Given the description of an element on the screen output the (x, y) to click on. 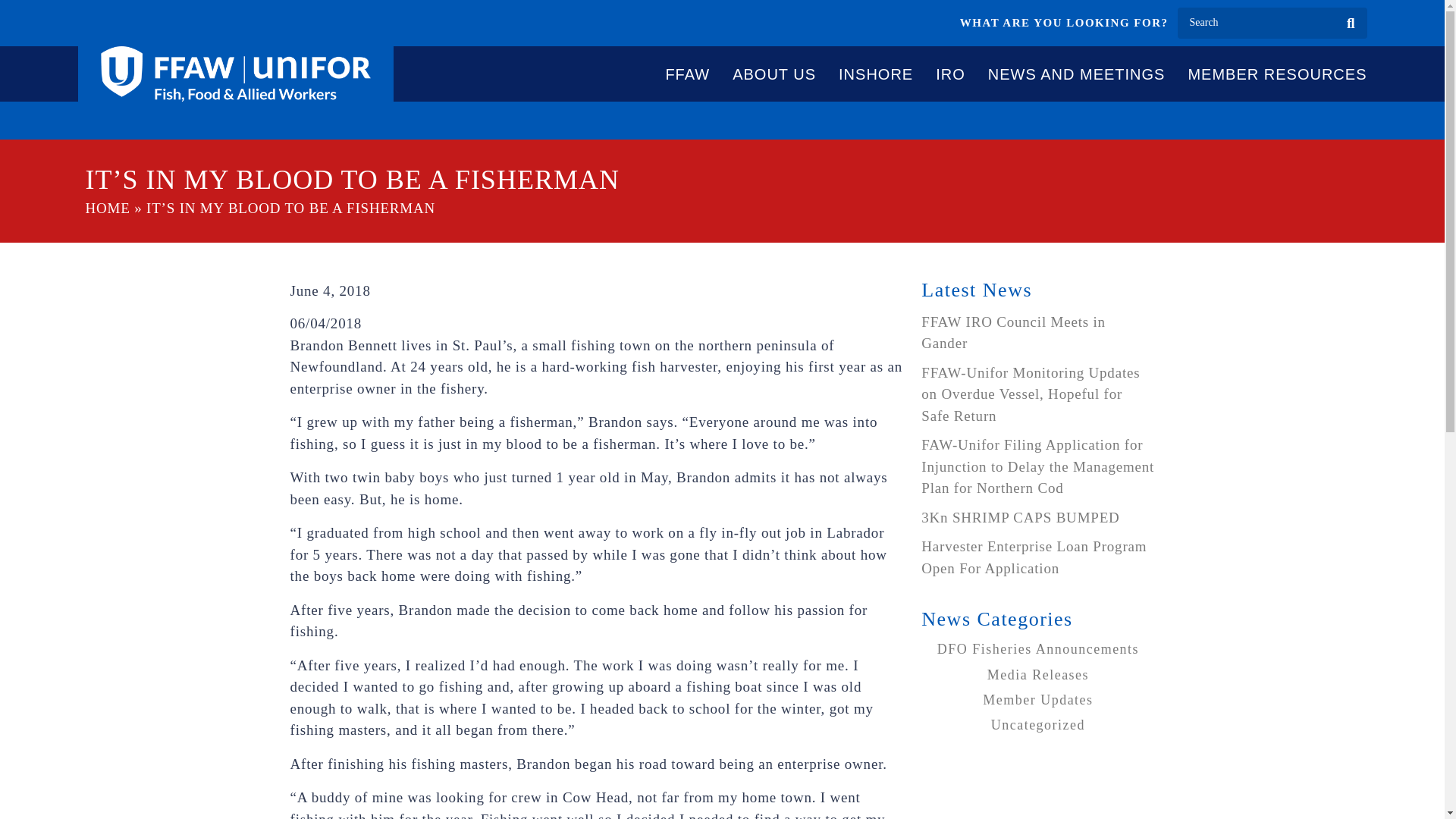
ABOUT US (773, 73)
IRO (950, 73)
FFAW (687, 73)
INSHORE (875, 73)
